Given the description of an element on the screen output the (x, y) to click on. 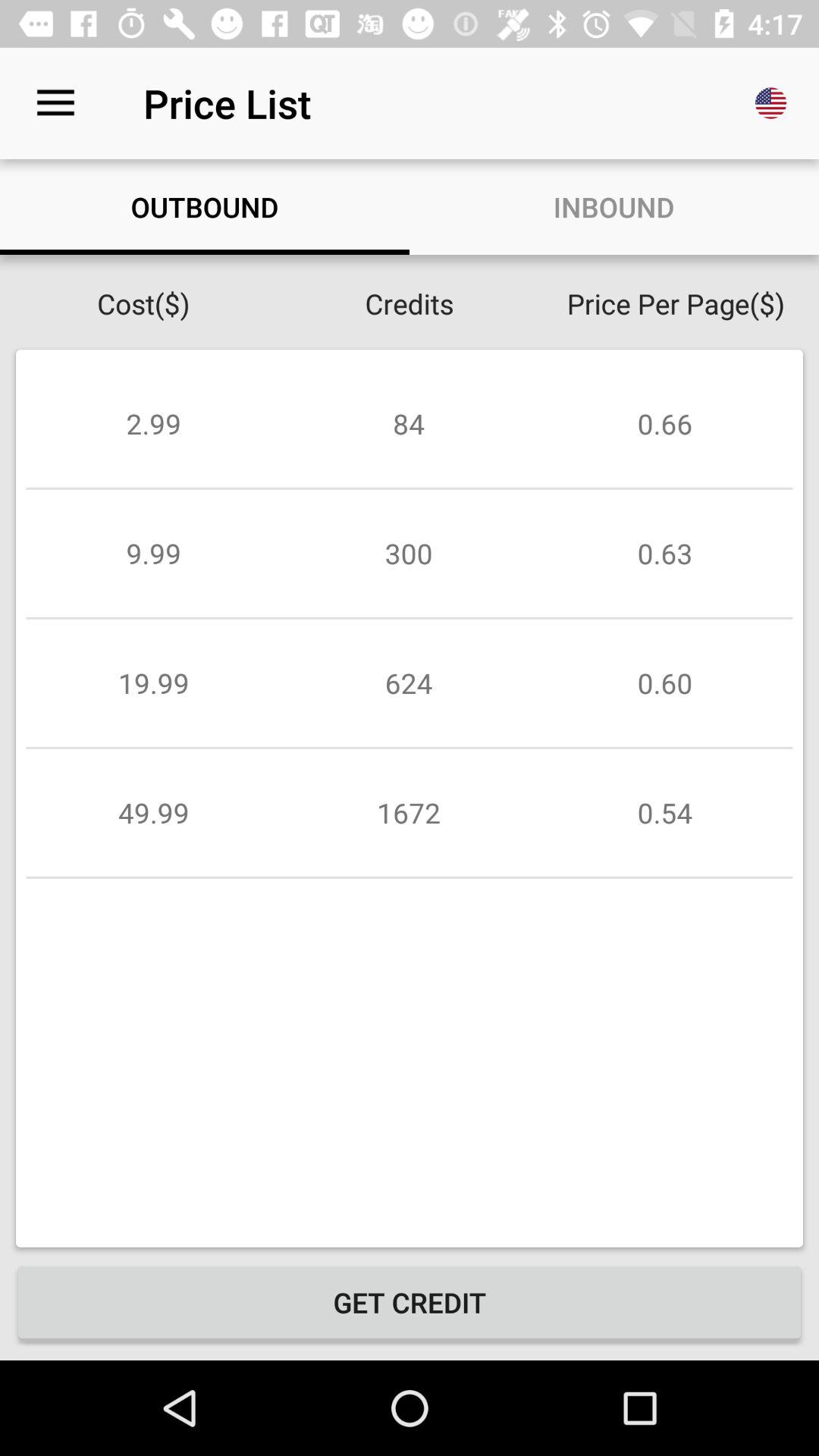
change region (771, 103)
